Given the description of an element on the screen output the (x, y) to click on. 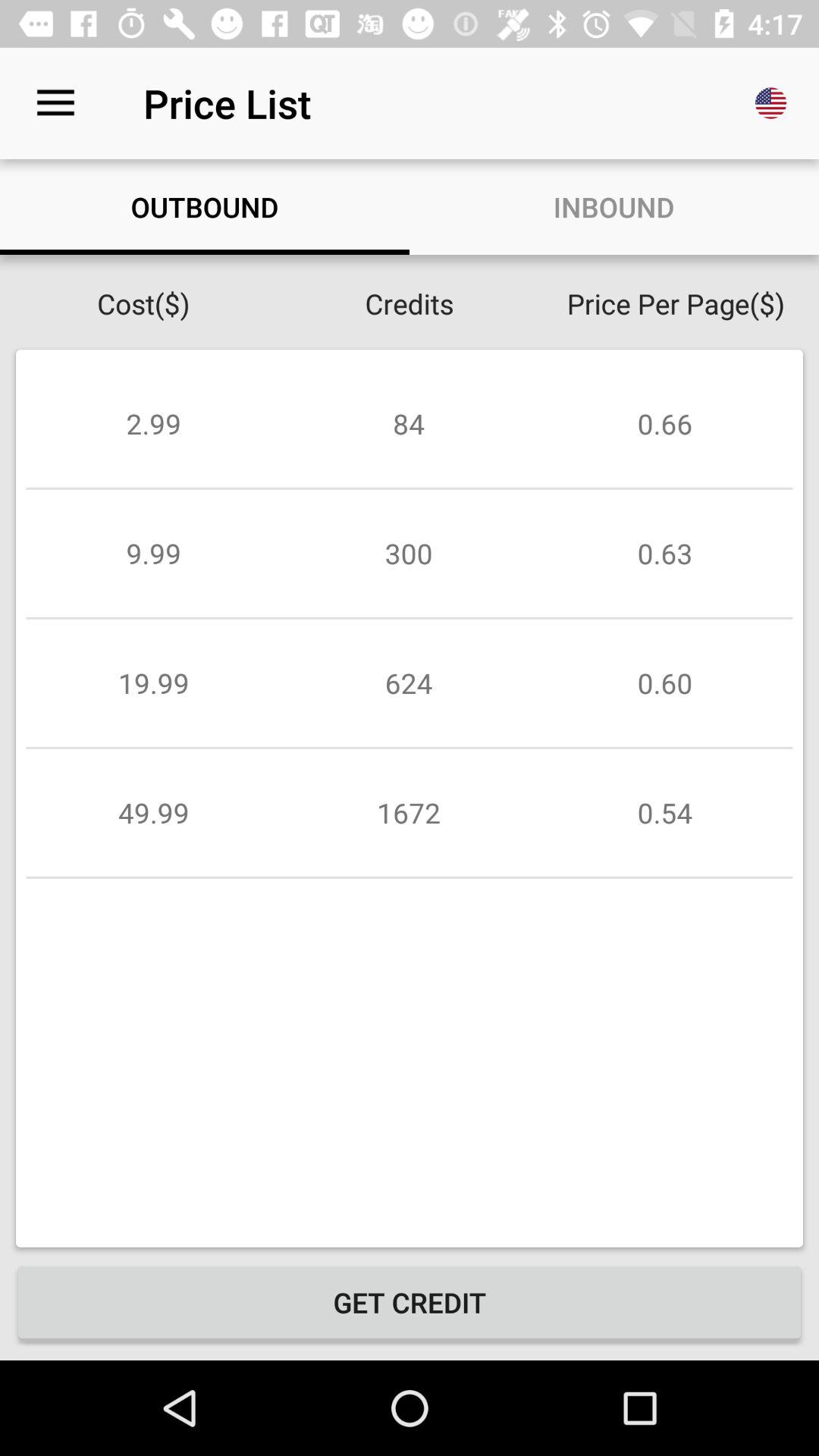
change region (771, 103)
